Given the description of an element on the screen output the (x, y) to click on. 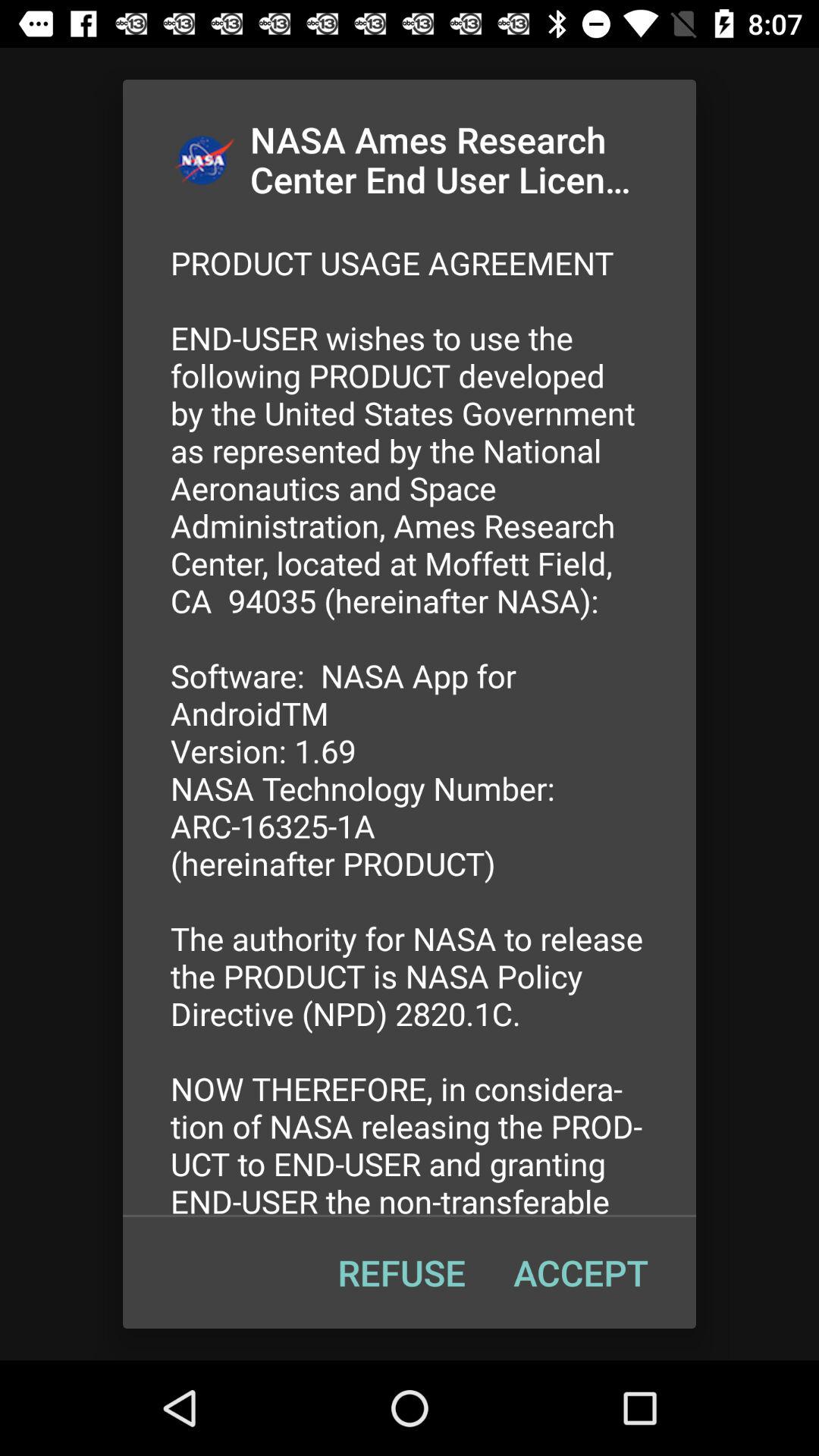
press item below the product usage agreement (401, 1272)
